Given the description of an element on the screen output the (x, y) to click on. 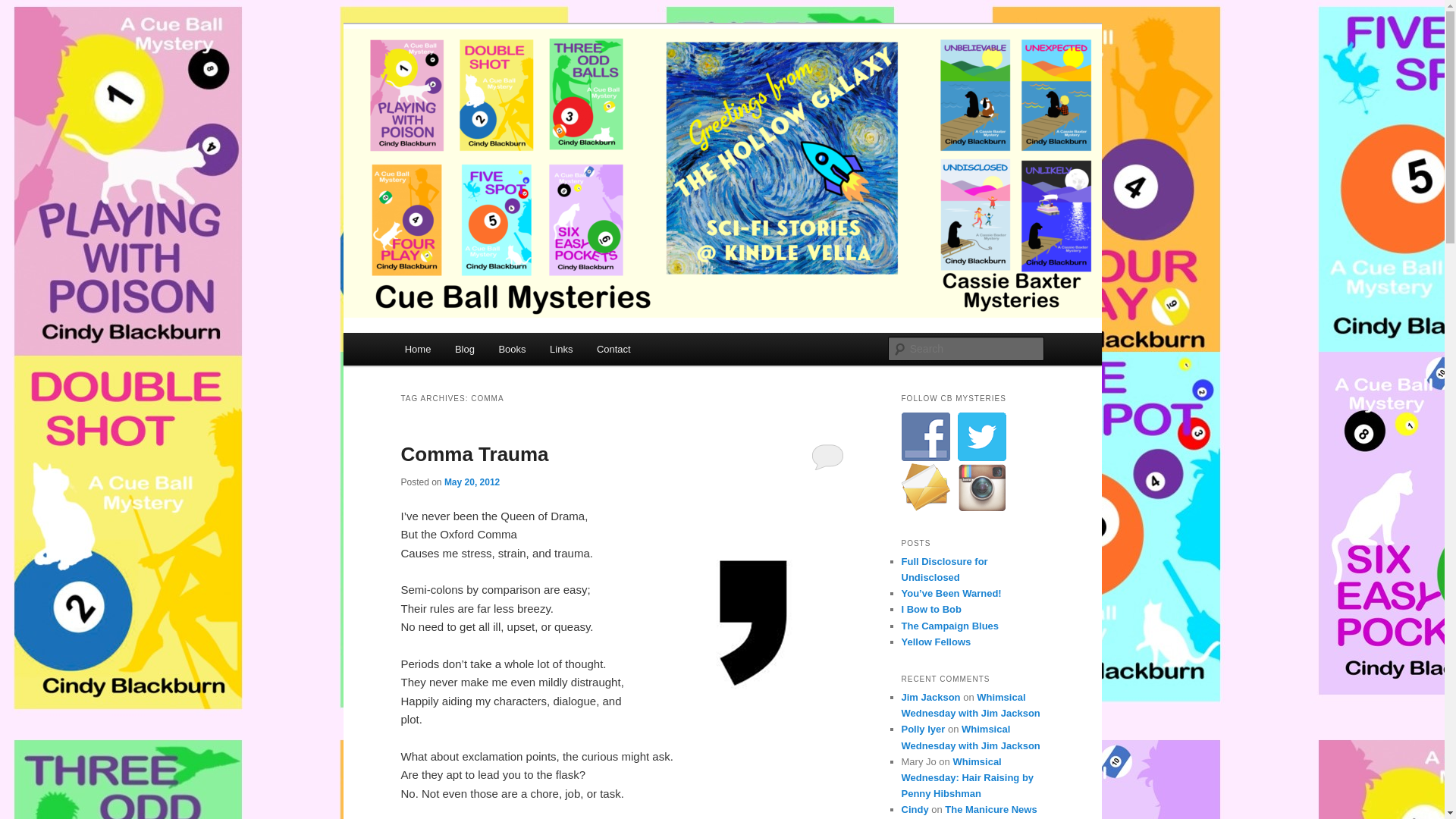
May 20, 2012 (471, 480)
Books (512, 348)
Join Me At Instagram (981, 487)
Search (24, 8)
Contact (613, 348)
Home (417, 348)
Yellow Fellows (936, 641)
Full Disclosure for Undisclosed (944, 569)
Polly Iyer (922, 728)
Join Me At E-mail (925, 487)
The Campaign Blues (949, 625)
I Bow to Bob (930, 609)
Join Me At Facebook (925, 436)
Blog (464, 348)
